Given the description of an element on the screen output the (x, y) to click on. 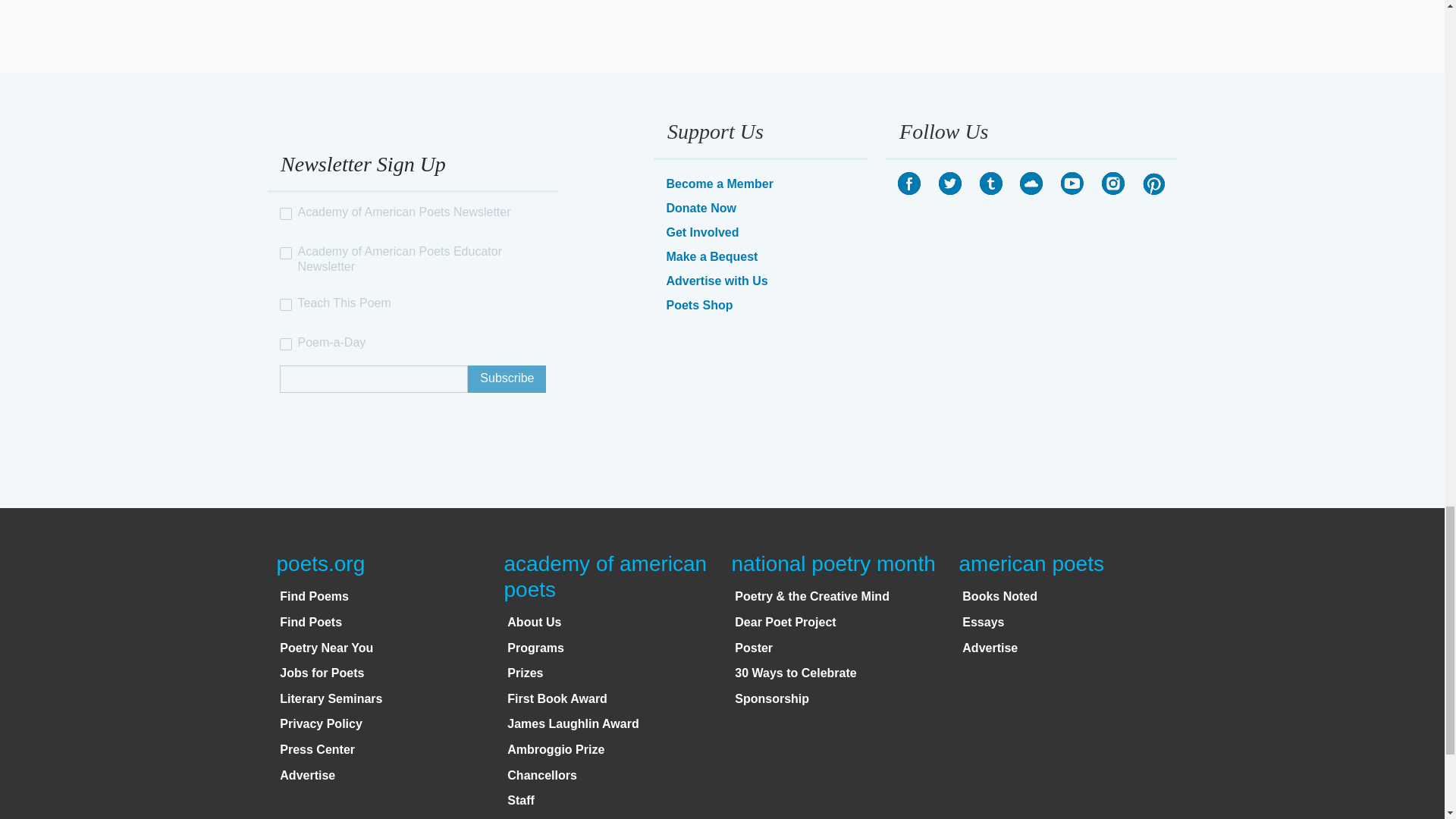
Poetry Near You (325, 647)
Literary Seminars (330, 698)
Jobs for Poets (321, 672)
Subscribe (506, 379)
